Given the description of an element on the screen output the (x, y) to click on. 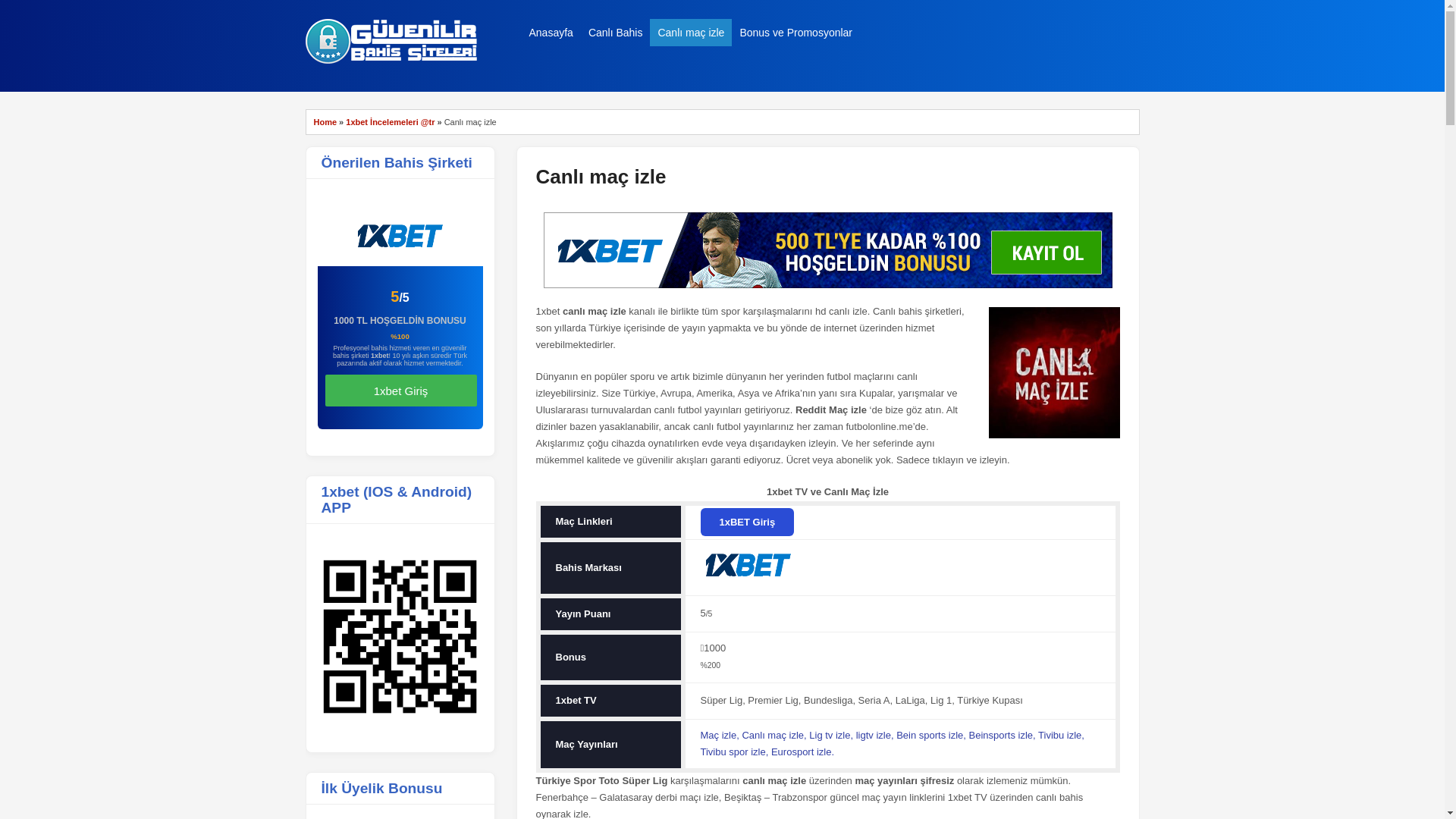
1xbet Element type: hover (393, 60)
Anasayfa Element type: text (550, 32)
Home Element type: text (325, 121)
Bonus ve Promosyonlar Element type: text (795, 32)
